Given the description of an element on the screen output the (x, y) to click on. 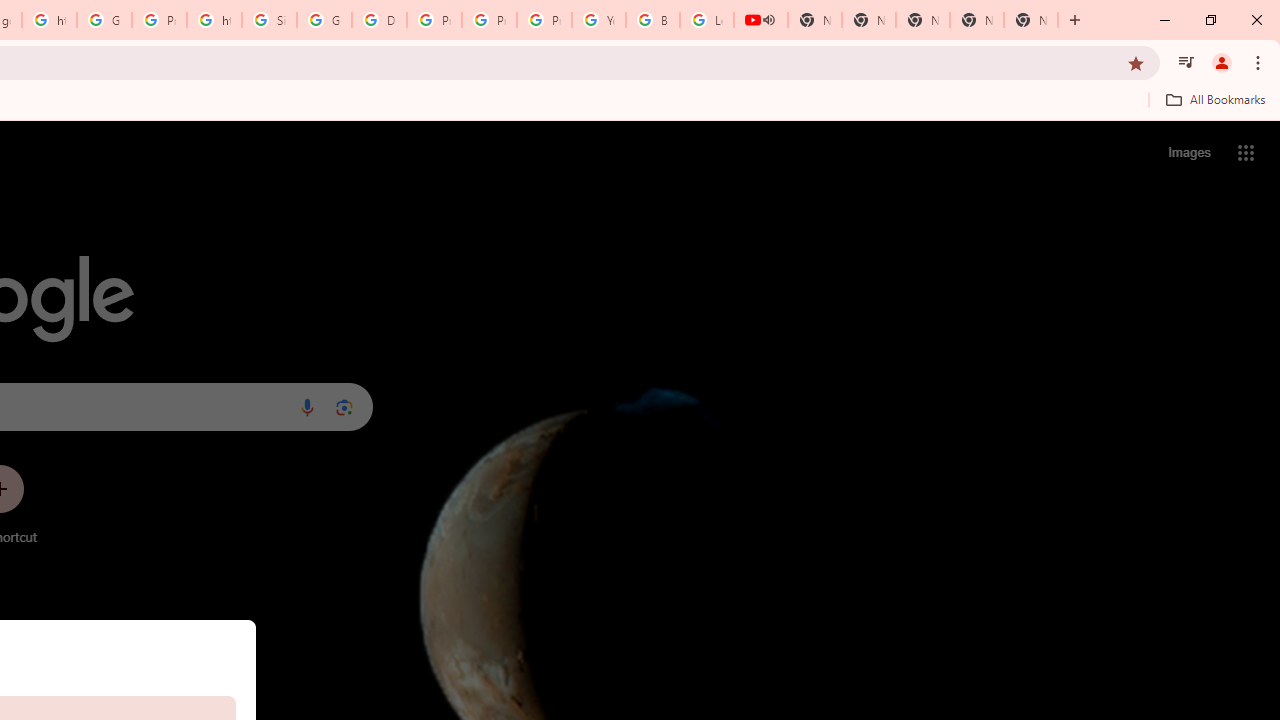
YouTube (598, 20)
